Given the description of an element on the screen output the (x, y) to click on. 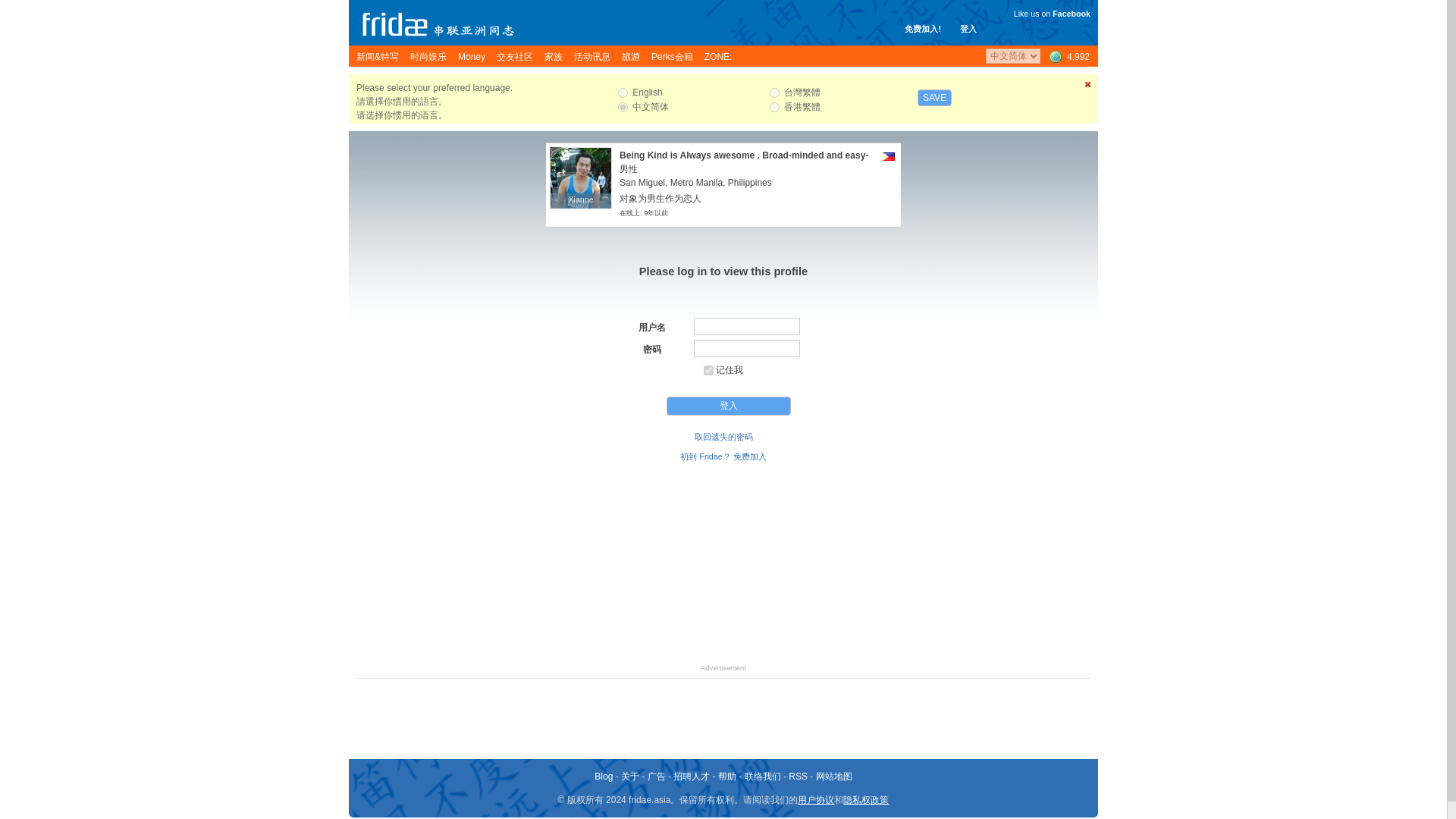
4,992 (1068, 56)
hk (774, 107)
1 (708, 370)
SAVE (934, 97)
sc (622, 107)
Worldwide (580, 177)
tc (1068, 56)
Money (774, 92)
Close this panel (471, 55)
